Given the description of an element on the screen output the (x, y) to click on. 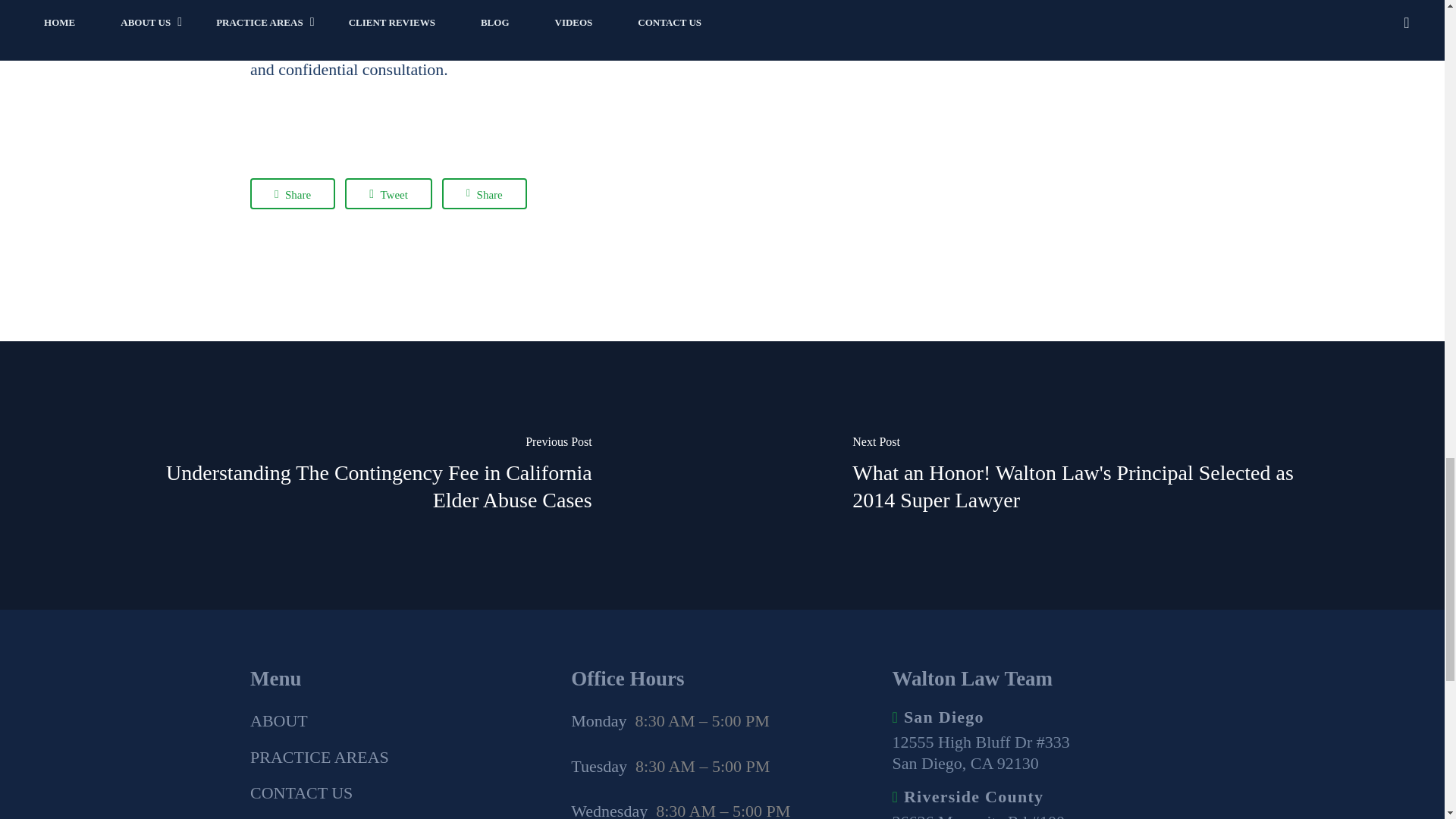
Share this (484, 193)
Share this (292, 193)
Tweet (388, 193)
Share (484, 193)
Tweet this (388, 193)
Share (292, 193)
